Given the description of an element on the screen output the (x, y) to click on. 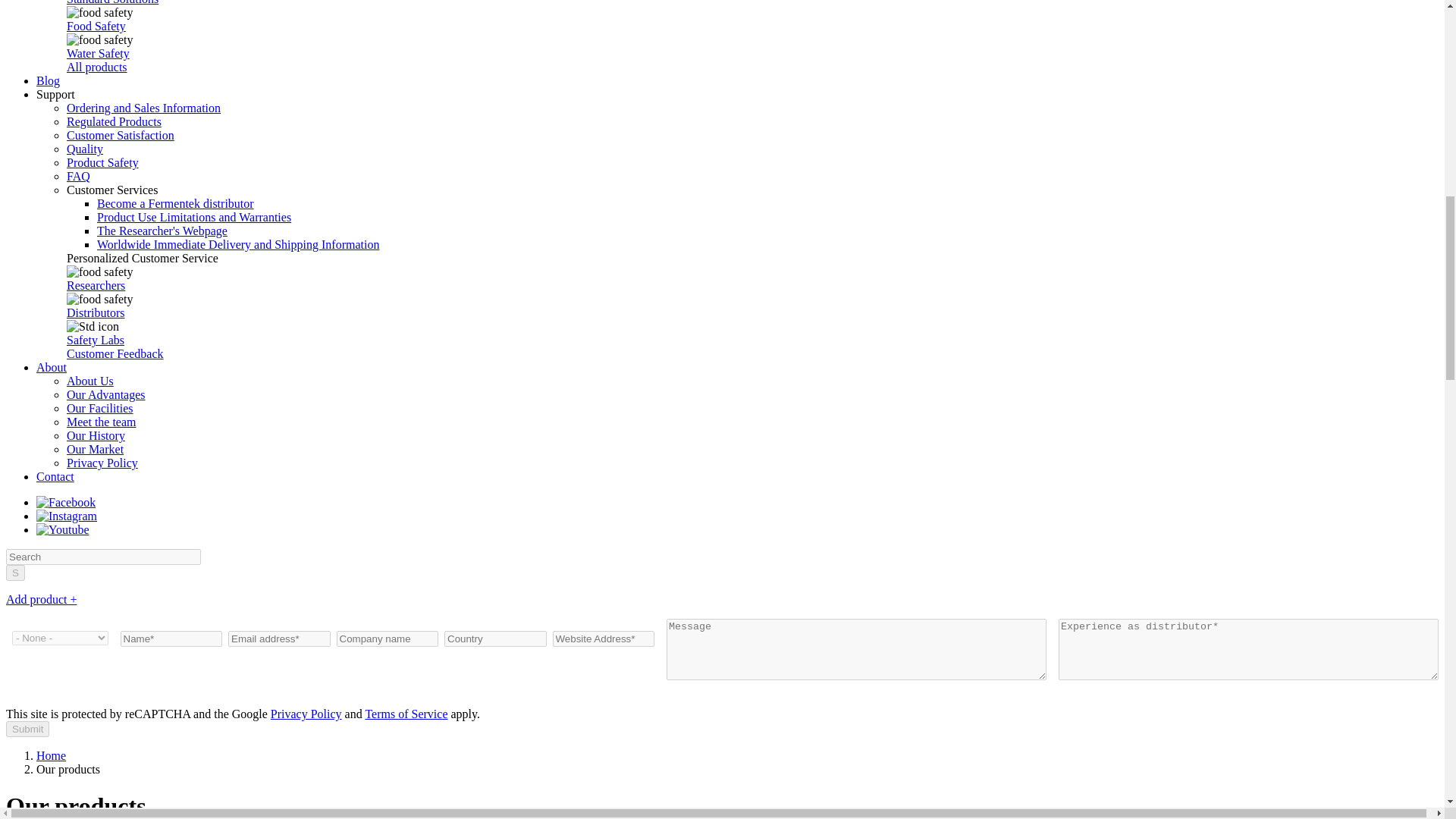
Submit (27, 729)
Regulated Products (113, 121)
S (14, 572)
Ordering and Sales Information (143, 107)
